Given the description of an element on the screen output the (x, y) to click on. 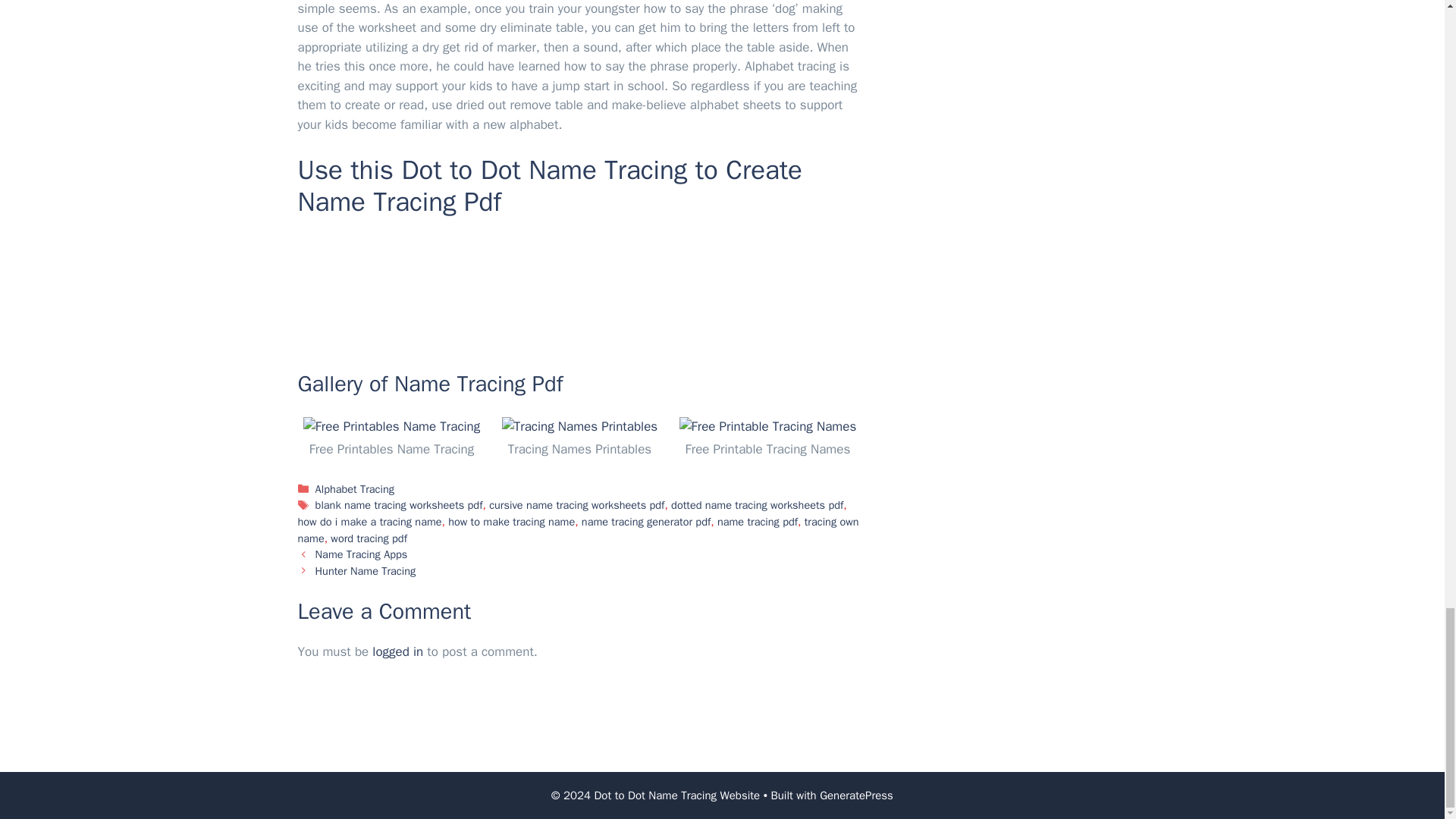
Hunter Name Tracing (365, 571)
how do i make a tracing name (369, 521)
name tracing pdf (757, 521)
dotted name tracing worksheets pdf (757, 504)
logged in (397, 651)
tracing own name (578, 530)
how to make tracing name (511, 521)
word tracing pdf (368, 538)
Handwriting Worksheet (579, 289)
blank name tracing worksheets pdf (399, 504)
name tracing generator pdf (645, 521)
Name Tracing Apps (361, 554)
cursive name tracing worksheets pdf (576, 504)
Alphabet Tracing (354, 489)
